Given the description of an element on the screen output the (x, y) to click on. 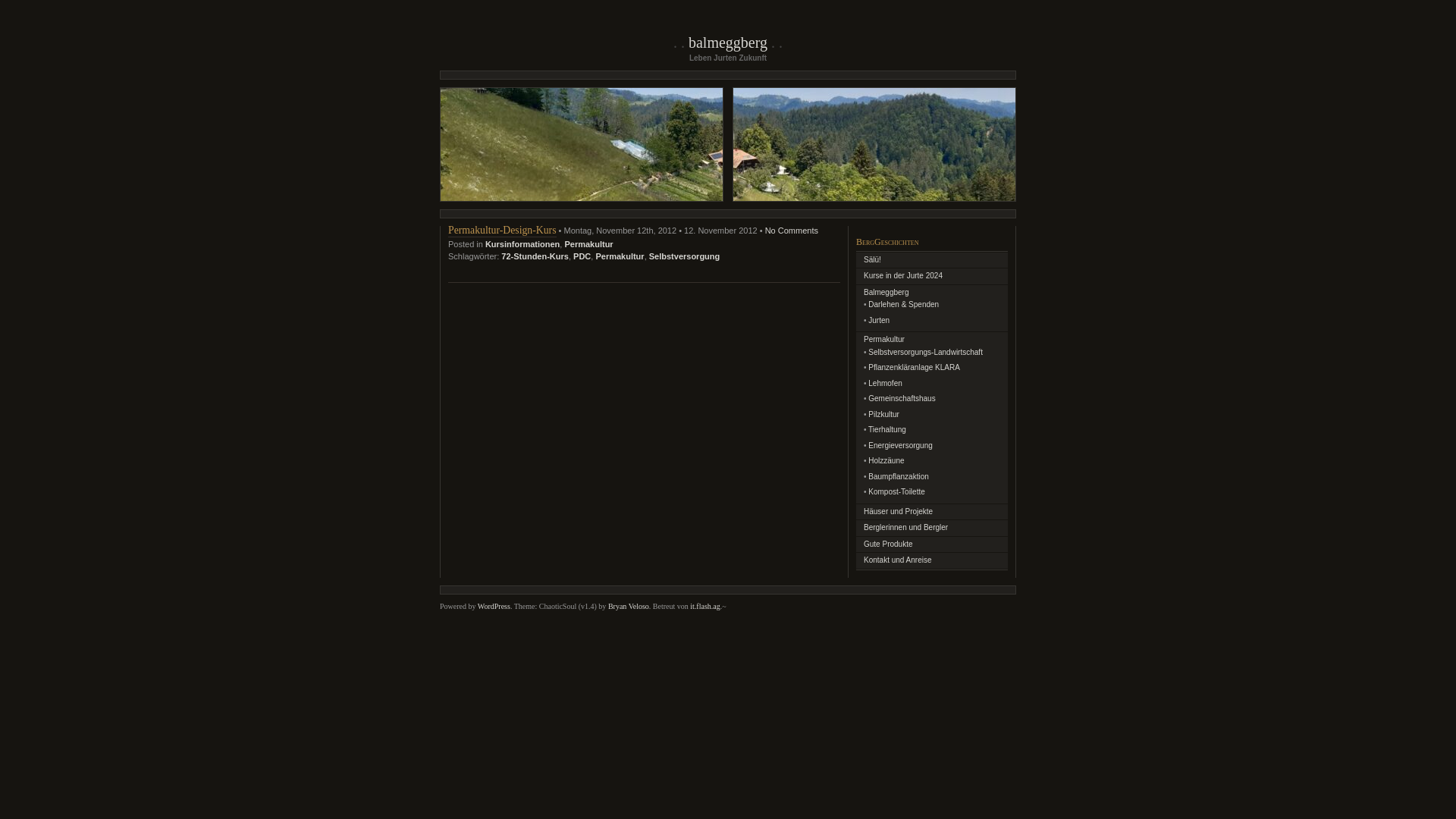
Jurten Element type: text (878, 319)
Energieversorgung Element type: text (900, 445)
Selbstversorgung Element type: text (684, 255)
PDC Element type: text (581, 255)
Gemeinschaftshaus Element type: text (901, 398)
Darlehen & Spenden Element type: text (903, 304)
Pilzkultur Element type: text (883, 413)
72-Stunden-Kurs Element type: text (534, 255)
Gute Produkte Element type: text (887, 543)
it.flash.ag Element type: text (704, 606)
Lehmofen Element type: text (884, 383)
Baumpflanzaktion Element type: text (898, 475)
No Comments Element type: text (791, 230)
WordPress Element type: text (493, 606)
Balmeggberg Element type: text (885, 292)
Selbstversorgungs-Landwirtschaft Element type: text (925, 351)
Permakultur Element type: text (588, 243)
Kompost-Toilette Element type: text (896, 491)
Kursinformationen Element type: text (522, 243)
Permakultur Element type: text (619, 255)
Tierhaltung Element type: text (887, 429)
Permakultur Element type: text (883, 339)
Bryan Veloso Element type: text (628, 606)
balmeggberg Element type: text (727, 42)
Permakultur-Design-Kurs Element type: text (502, 229)
Kurse in der Jurte 2024 Element type: text (902, 275)
Kontakt und Anreise Element type: text (897, 559)
Berglerinnen und Bergler Element type: text (905, 527)
